Given the description of an element on the screen output the (x, y) to click on. 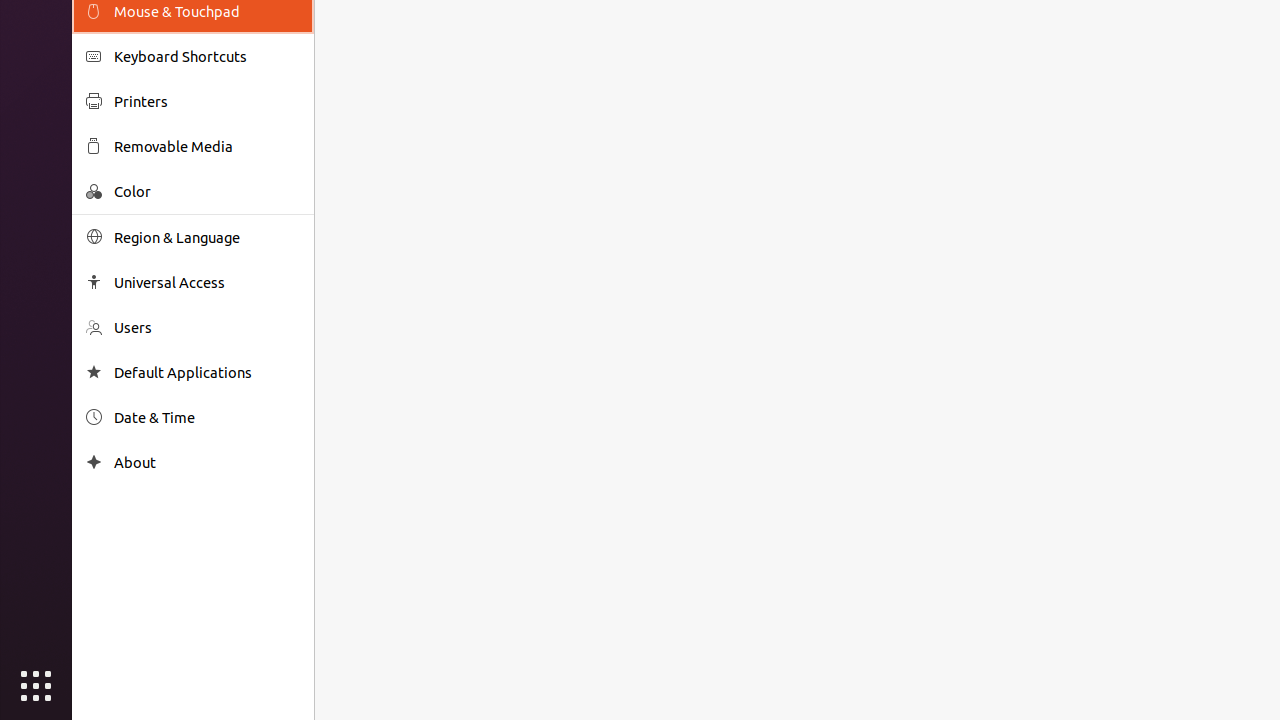
Region & Language Element type: label (207, 237)
About Element type: label (207, 462)
